Given the description of an element on the screen output the (x, y) to click on. 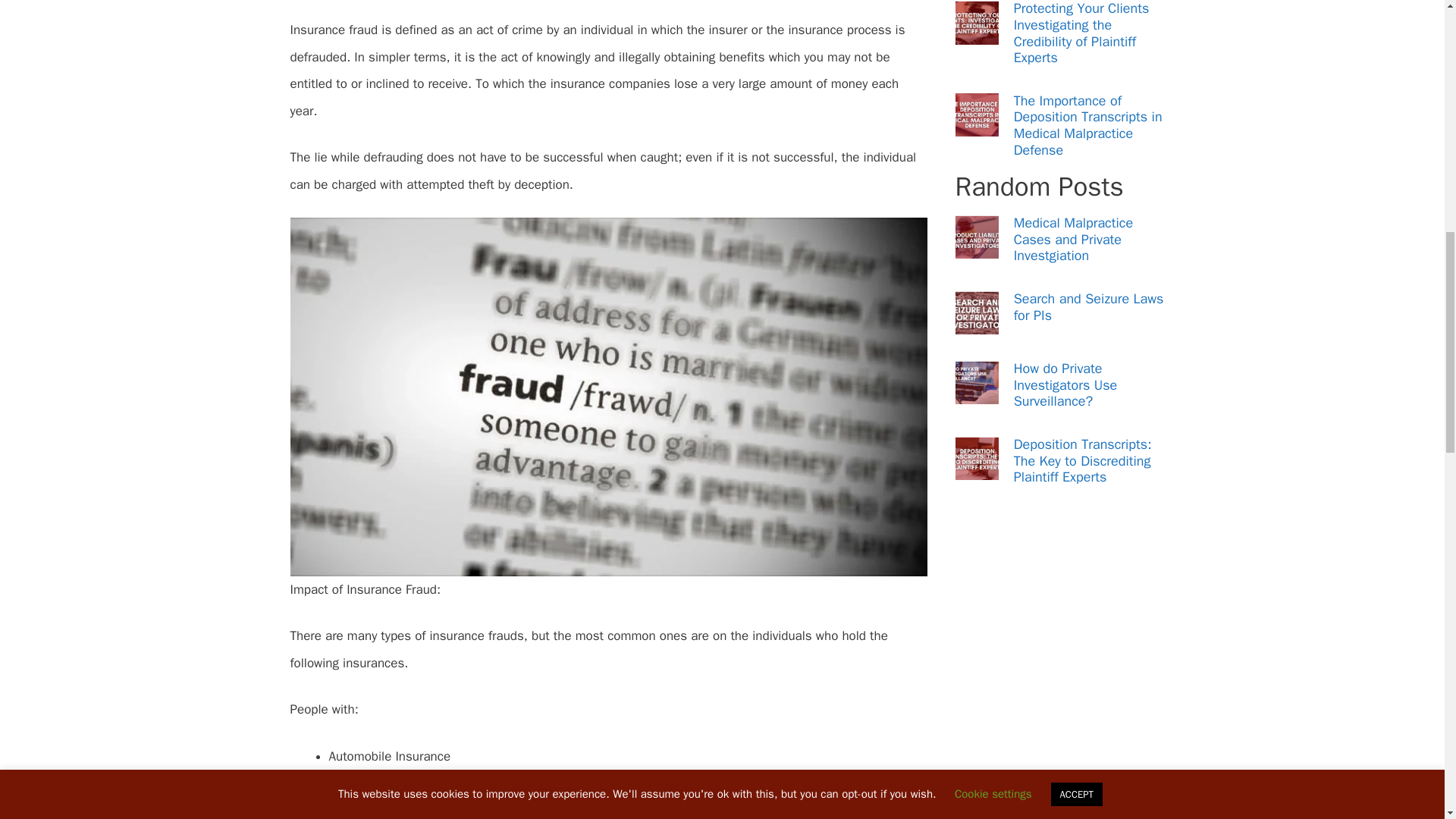
Medical Malpractice Cases and Private Investgiation (1072, 238)
